Given the description of an element on the screen output the (x, y) to click on. 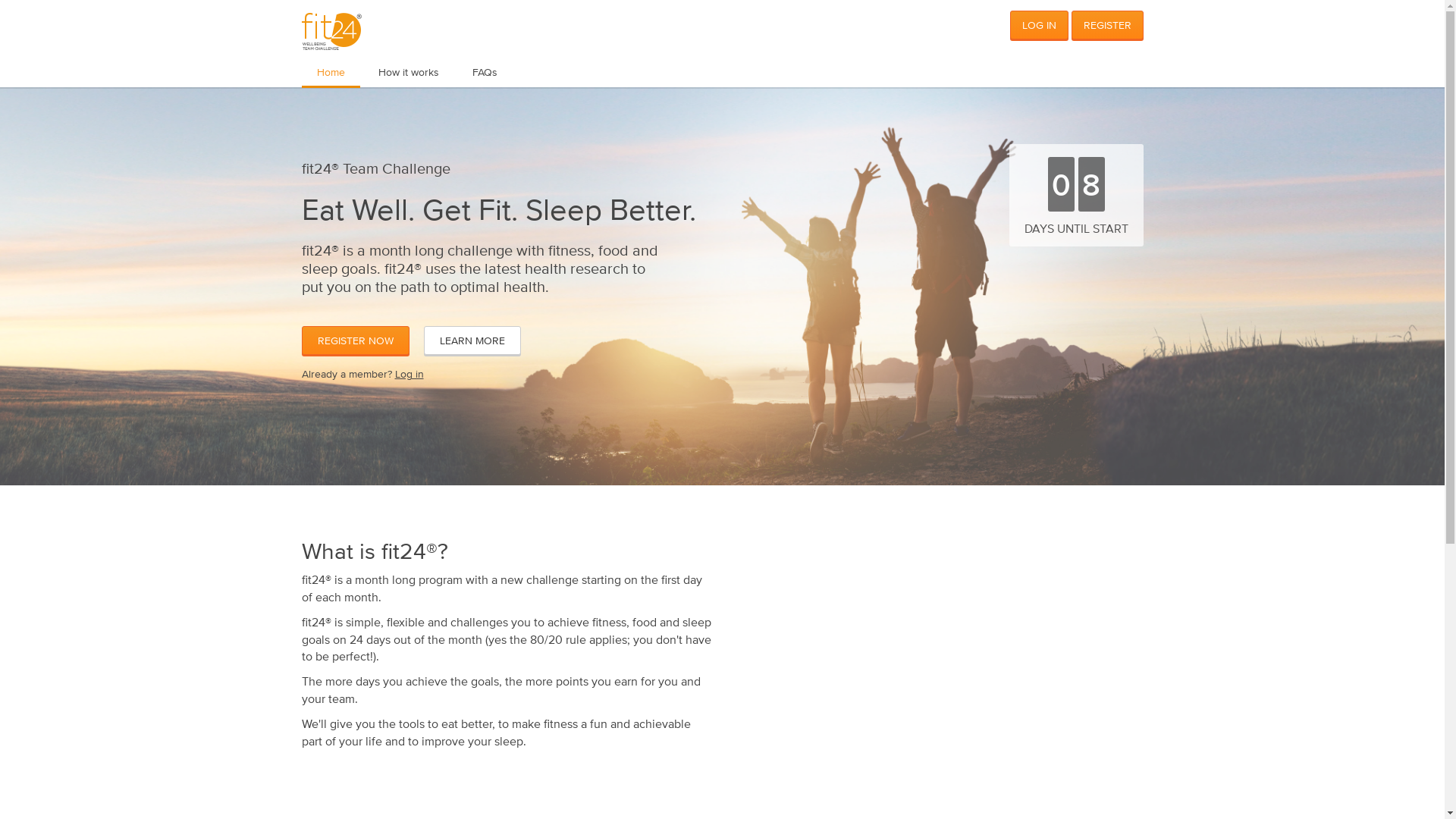
Home Element type: text (330, 72)
How it works Element type: text (407, 71)
REGISTER NOW Element type: text (355, 340)
FAQs Element type: text (483, 71)
Log in Element type: text (408, 373)
REGISTER Element type: text (1106, 24)
LOG IN Element type: text (1039, 24)
LEARN MORE Element type: text (471, 340)
